Given the description of an element on the screen output the (x, y) to click on. 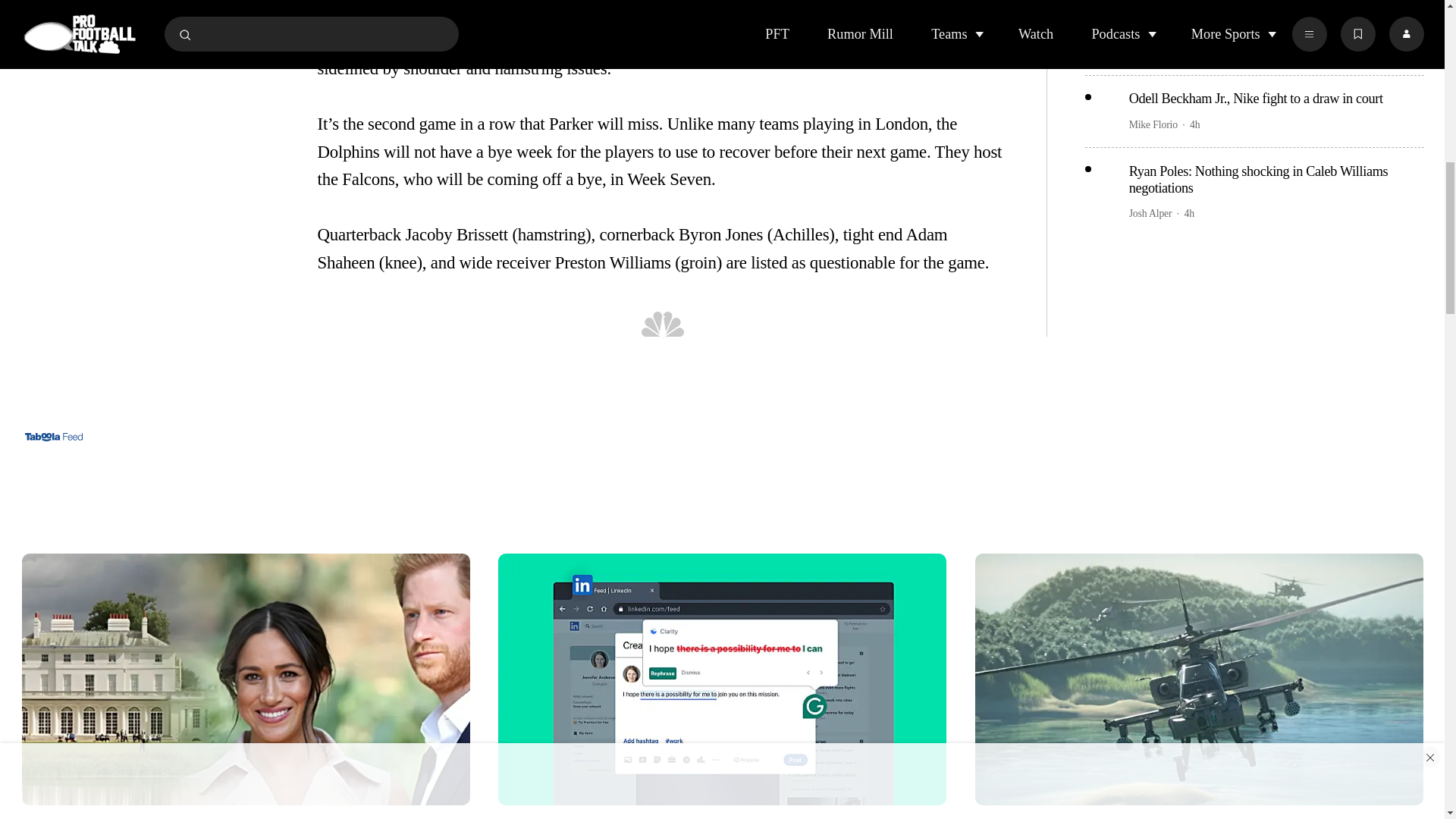
What is your writing missing? (721, 678)
What is your writing missing? (721, 812)
